Given the description of an element on the screen output the (x, y) to click on. 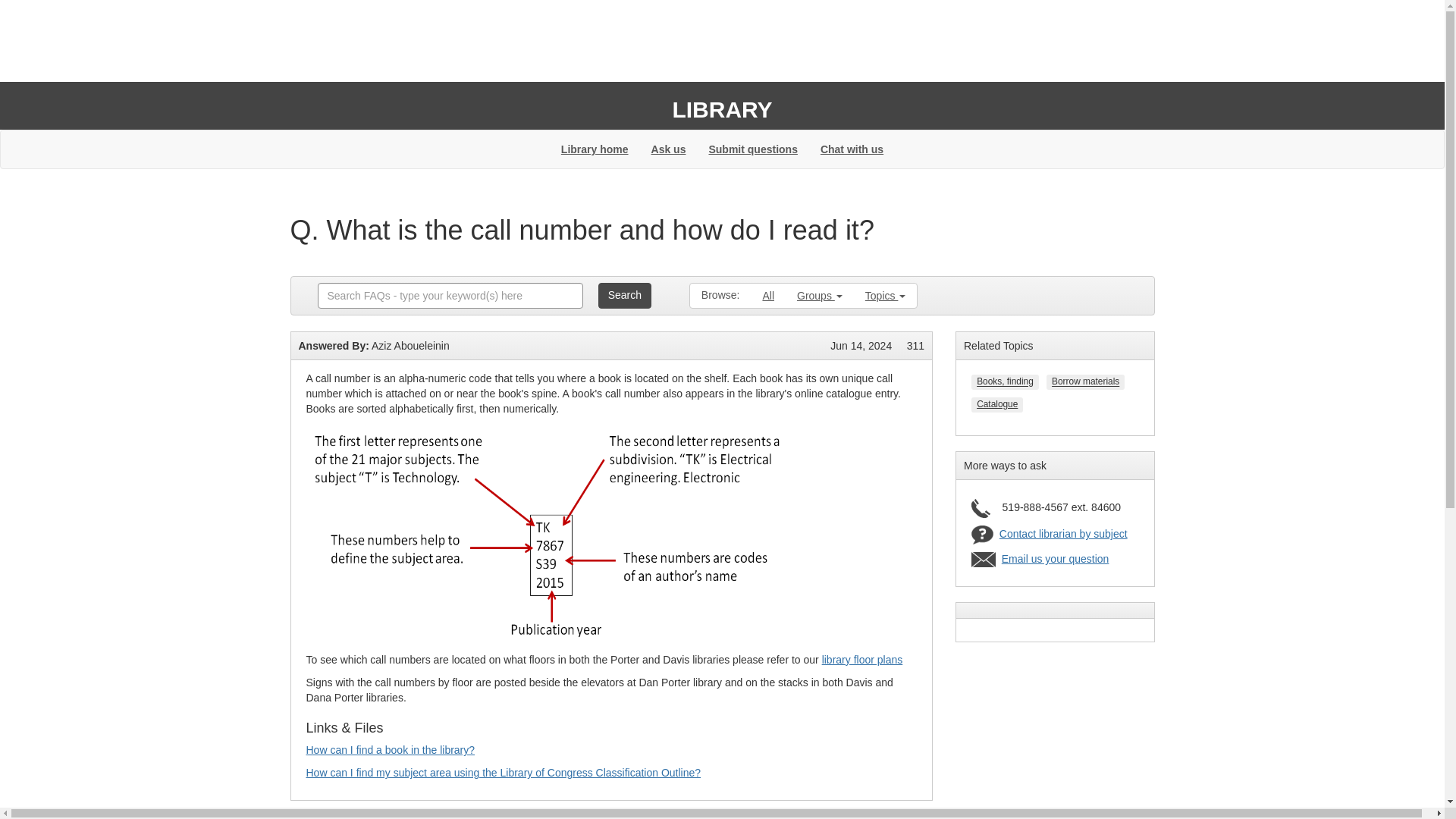
Chat with us (852, 149)
Submit questions (752, 149)
Ask us (668, 149)
Groups (819, 295)
Topics (885, 295)
Last Updated (860, 345)
Opens in new window (503, 772)
University of Waterloo (373, 48)
Views (915, 345)
Search (624, 295)
